Given the description of an element on the screen output the (x, y) to click on. 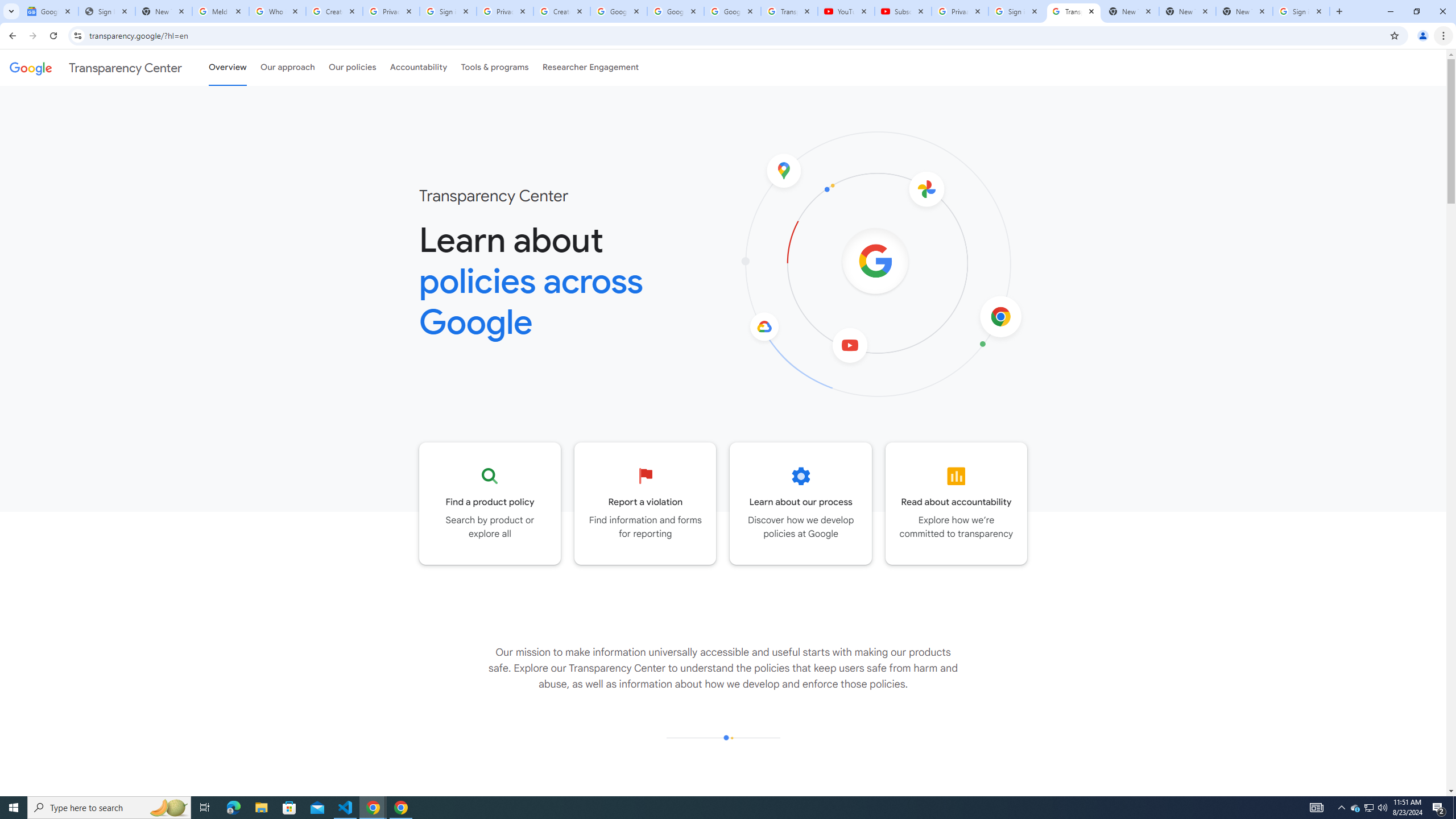
Sign in - Google Accounts (447, 11)
Researcher Engagement (590, 67)
Go to the Product policy page (490, 503)
YouTube (845, 11)
Sign in - Google Accounts (1301, 11)
Tools & programs (494, 67)
Google News (49, 11)
Who is my administrator? - Google Account Help (277, 11)
Our policies (351, 67)
